Given the description of an element on the screen output the (x, y) to click on. 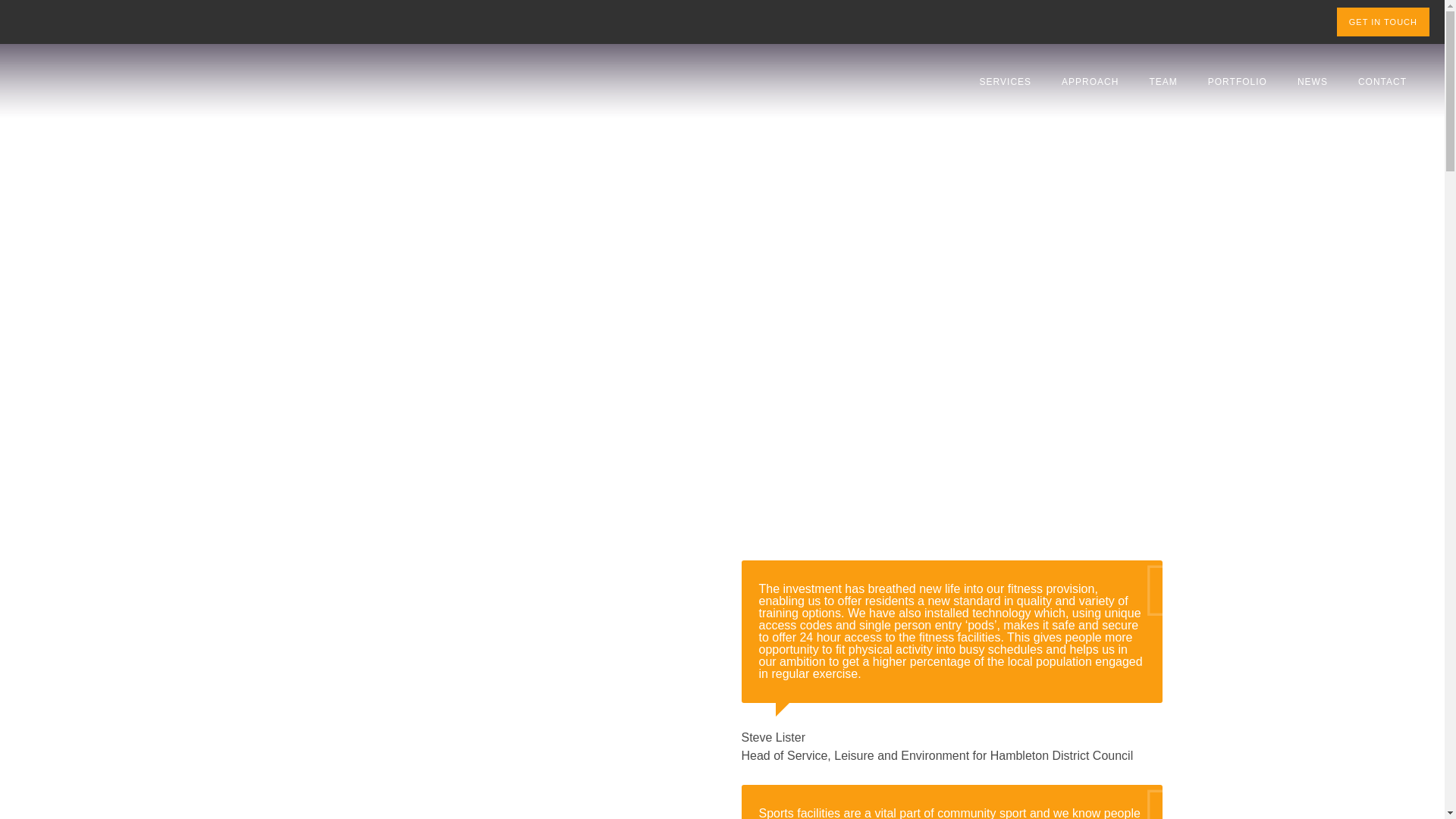
Services (1004, 81)
SERVICES (1004, 81)
News (1312, 81)
Portfolio (1237, 81)
TEAM (1163, 81)
NEWS (1312, 81)
CONTACT (1382, 81)
PORTFOLIO (1237, 81)
APPROACH (1090, 81)
Approach (1090, 81)
